Given the description of an element on the screen output the (x, y) to click on. 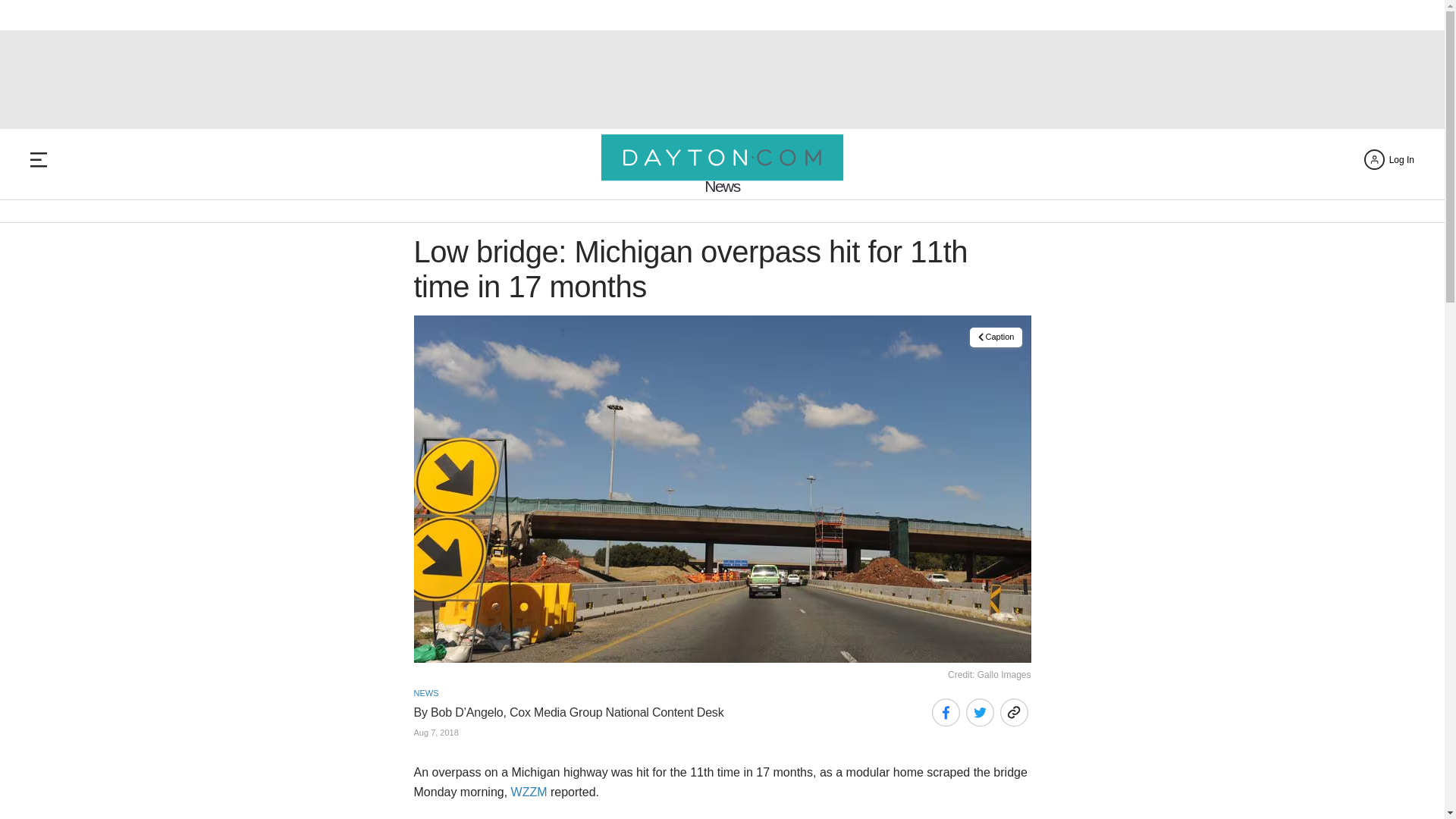
WZZM (529, 792)
NEWS (426, 692)
